Given the description of an element on the screen output the (x, y) to click on. 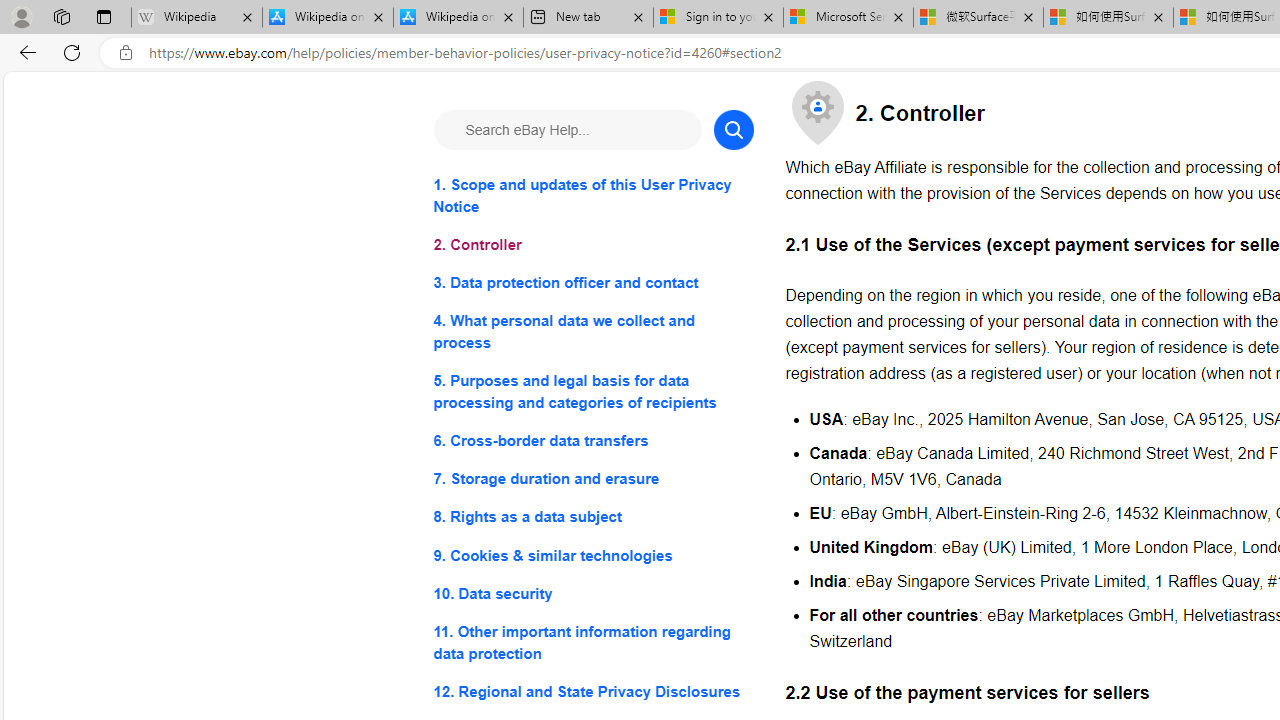
12. Regional and State Privacy Disclosures (592, 690)
9. Cookies & similar technologies (592, 555)
Search eBay Help... (566, 129)
12. Regional and State Privacy Disclosures (592, 690)
11. Other important information regarding data protection (592, 642)
11. Other important information regarding data protection (592, 642)
8. Rights as a data subject (592, 517)
